Given the description of an element on the screen output the (x, y) to click on. 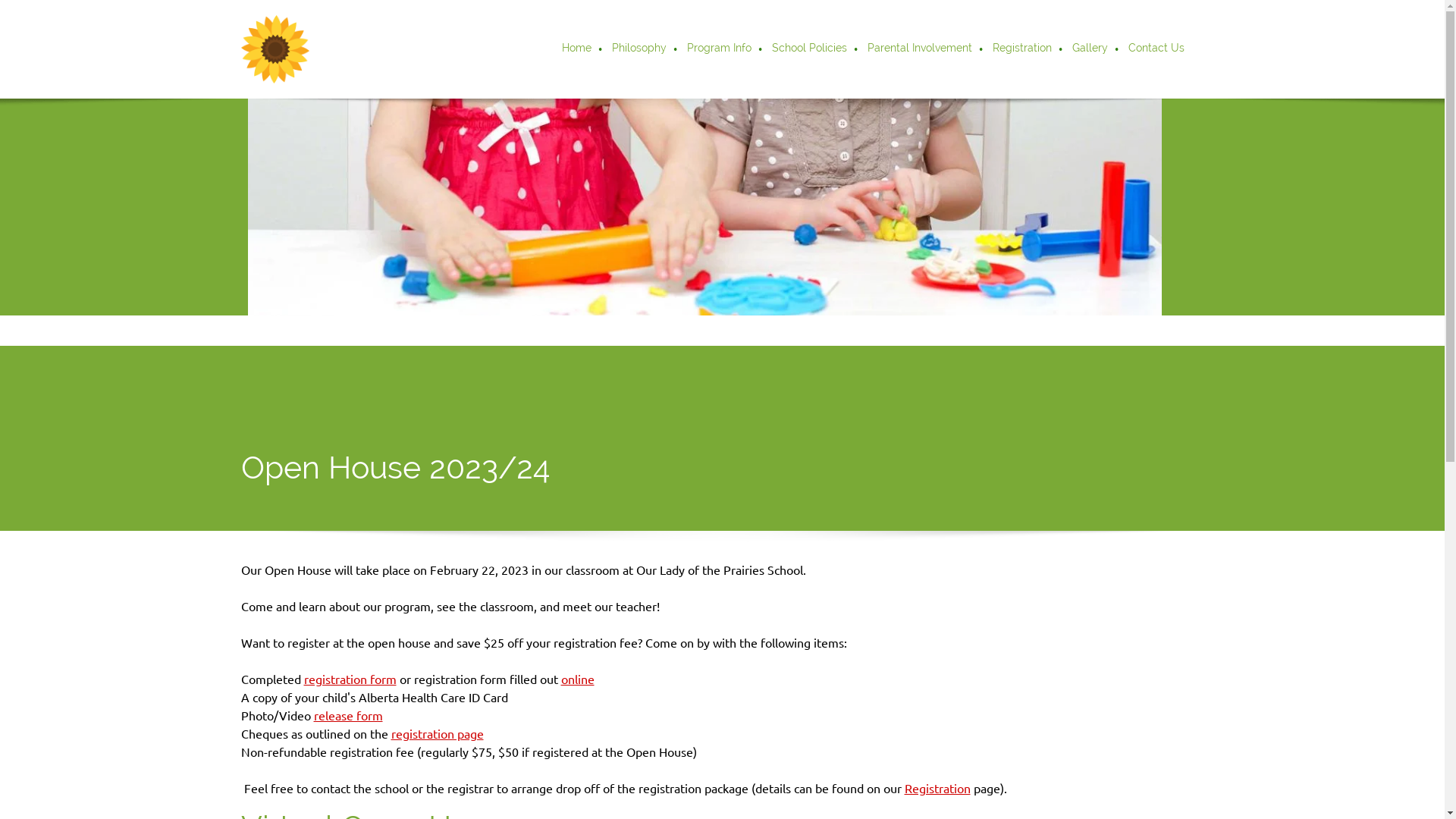
Registration Element type: text (936, 788)
Registration Element type: text (1022, 49)
Gallery Element type: text (1090, 49)
online Element type: text (577, 679)
School Policies Element type: text (809, 49)
Philosophy Element type: text (639, 49)
Home Element type: text (577, 49)
release form Element type: text (347, 715)
Contact Us Element type: text (1151, 49)
Parental Involvement Element type: text (920, 49)
registration form Element type: text (349, 679)
Go to site home page Element type: hover (275, 49)
registration page Element type: text (437, 733)
Program Info Element type: text (719, 49)
